Given the description of an element on the screen output the (x, y) to click on. 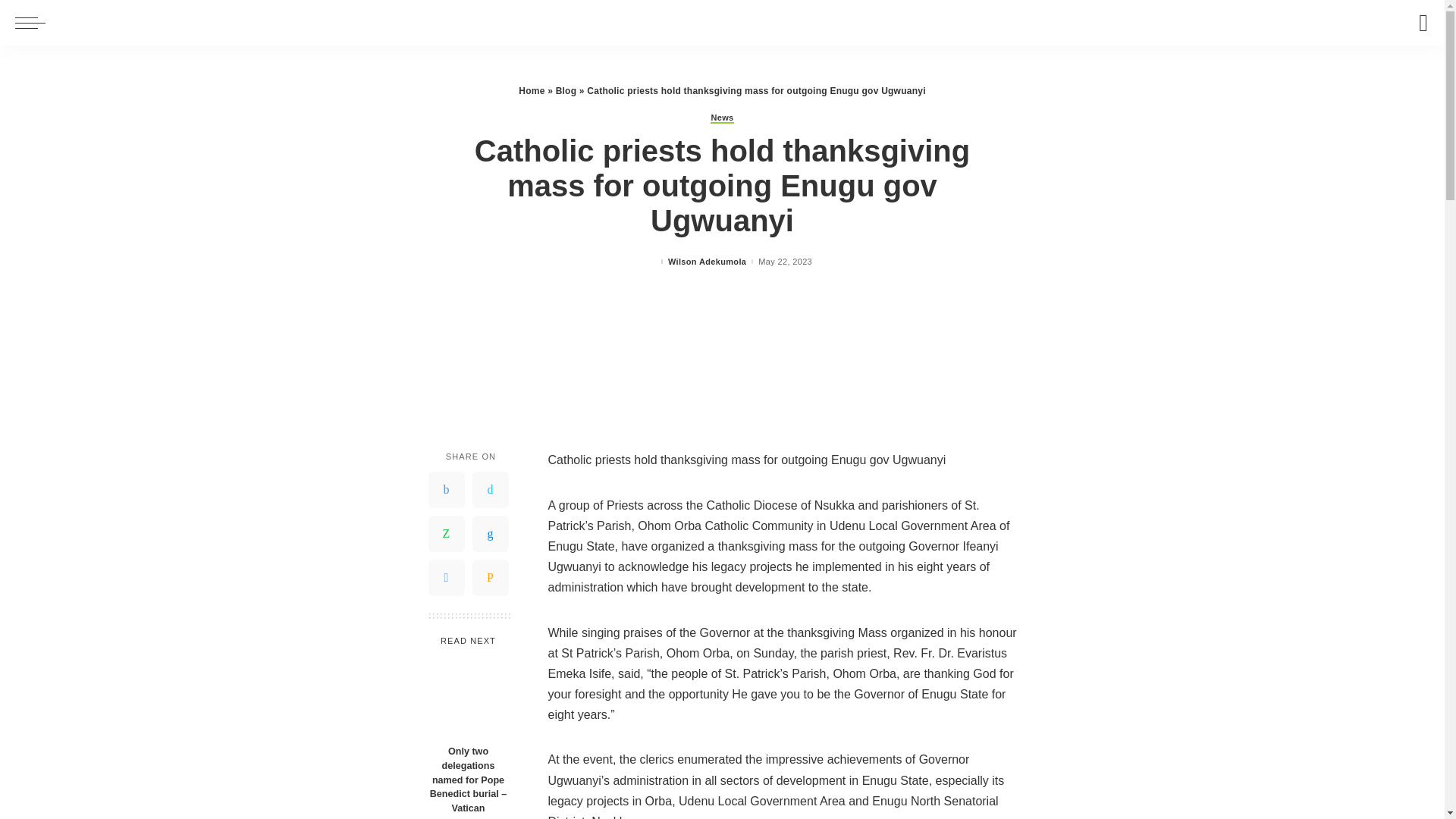
News (721, 118)
linkedIn (489, 533)
WhatsApp (446, 533)
Twitter (489, 489)
Home (531, 90)
Email (489, 577)
Wilson Adekumola (706, 261)
Blog (566, 90)
Facebook (446, 489)
Telegram (446, 577)
